Given the description of an element on the screen output the (x, y) to click on. 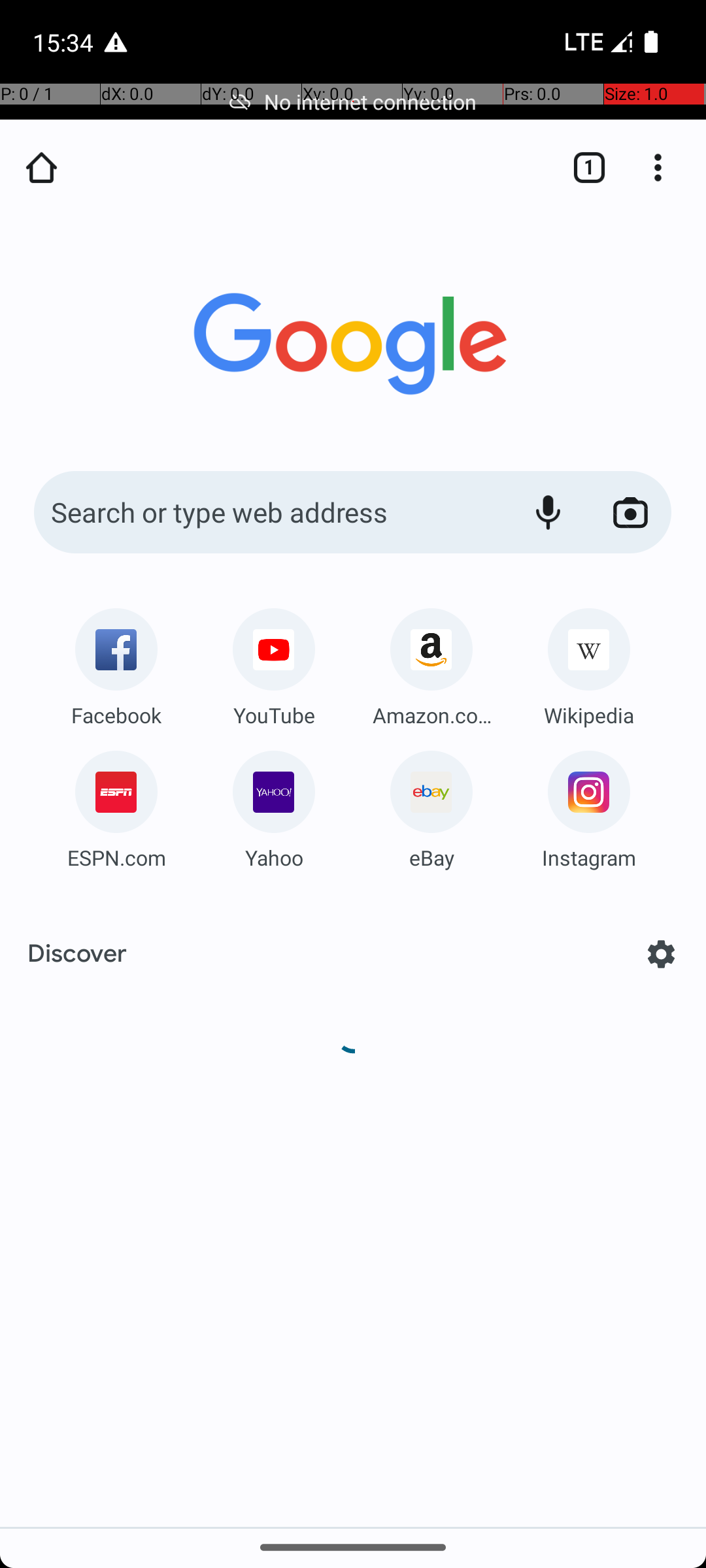
No internet connection Element type: android.widget.TextView (352, 101)
Switch or close tabs Element type: android.widget.ImageButton (582, 167)
Search or type web address Element type: android.widget.EditText (267, 512)
Start voice search Element type: android.widget.ImageView (547, 512)
Search with your camera using Google Lens Element type: android.widget.ImageView (629, 512)
Navigate: Facebook: m.facebook.com Element type: android.widget.FrameLayout (115, 662)
Navigate: YouTube: m.youtube.com Element type: android.widget.FrameLayout (273, 662)
Navigate: Amazon.com: www.amazon.com Element type: android.widget.FrameLayout (431, 662)
Navigate: Wikipedia: en.m.wikipedia.org Element type: android.widget.FrameLayout (588, 662)
Navigate: ESPN.com: www.espn.com Element type: android.widget.FrameLayout (115, 804)
Navigate: Yahoo: www.yahoo.com Element type: android.widget.FrameLayout (273, 804)
Navigate: eBay: m.ebay.com Element type: android.widget.FrameLayout (431, 804)
Navigate: Instagram: www.instagram.com Element type: android.widget.FrameLayout (588, 804)
Discover Element type: android.widget.TextView (76, 953)
Options for Discover Element type: android.widget.ImageButton (660, 953)
Facebook Element type: android.widget.TextView (115, 715)
Amazon.com Element type: android.widget.TextView (430, 715)
Wikipedia Element type: android.widget.TextView (588, 715)
ESPN.com Element type: android.widget.TextView (115, 857)
Yahoo Element type: android.widget.TextView (273, 857)
eBay Element type: android.widget.TextView (430, 857)
Instagram Element type: android.widget.TextView (588, 857)
